Given the description of an element on the screen output the (x, y) to click on. 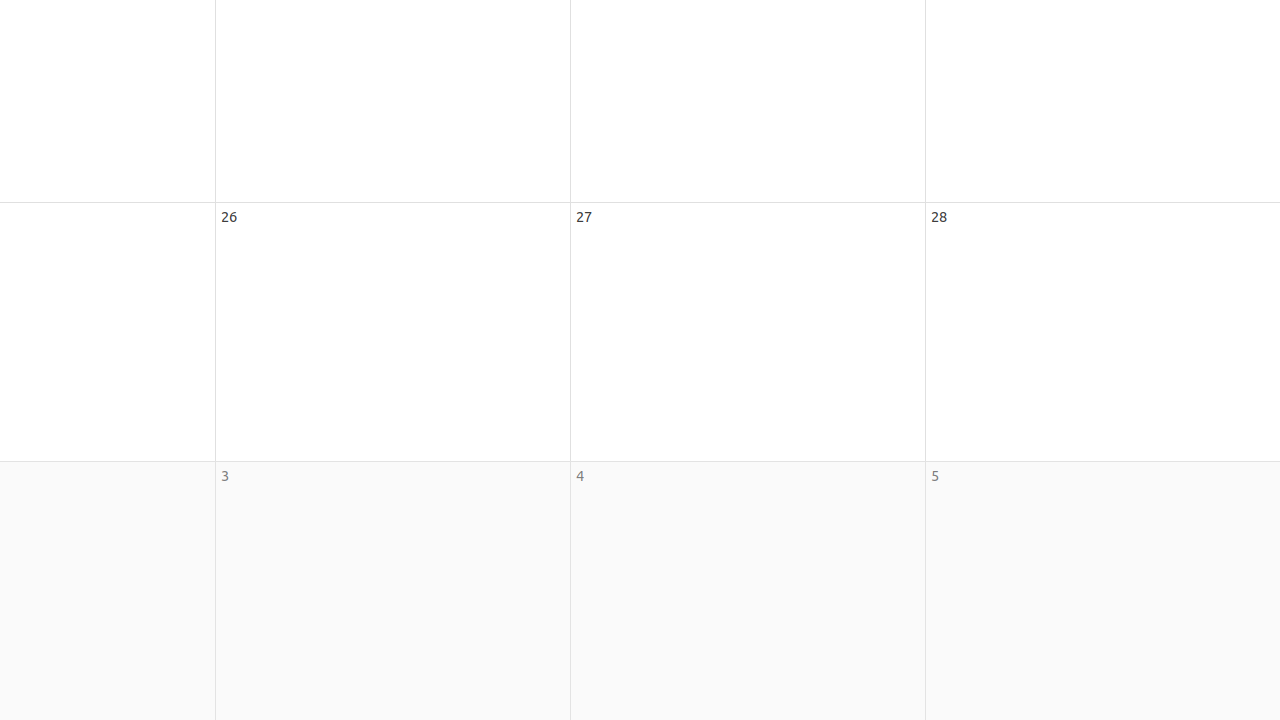
5 Element type: label (935, 475)
4 Element type: label (580, 475)
27 Element type: label (584, 216)
3 Element type: label (225, 475)
26 Element type: label (229, 216)
